Given the description of an element on the screen output the (x, y) to click on. 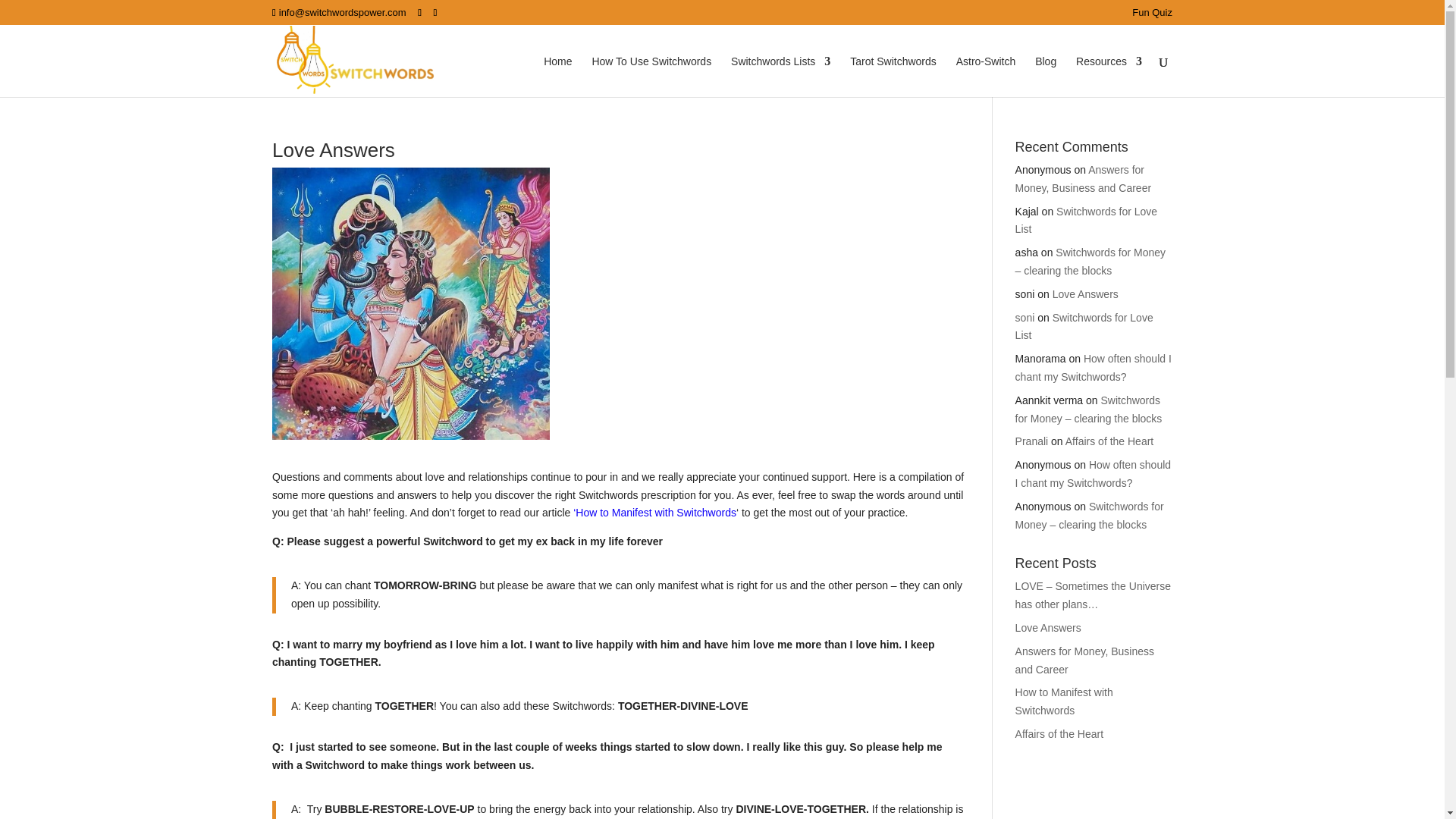
Love Answers (1085, 294)
Fun Quiz (1152, 16)
How To Use Switchwords (651, 76)
Resources (1108, 76)
Home (557, 76)
Answers for Money, Business and Career (1082, 178)
Switchwords for Love List (1085, 220)
Astro-Switch (986, 76)
Tarot Switchwords (893, 76)
Switchwords Lists (779, 76)
Blog (1046, 76)
